Given the description of an element on the screen output the (x, y) to click on. 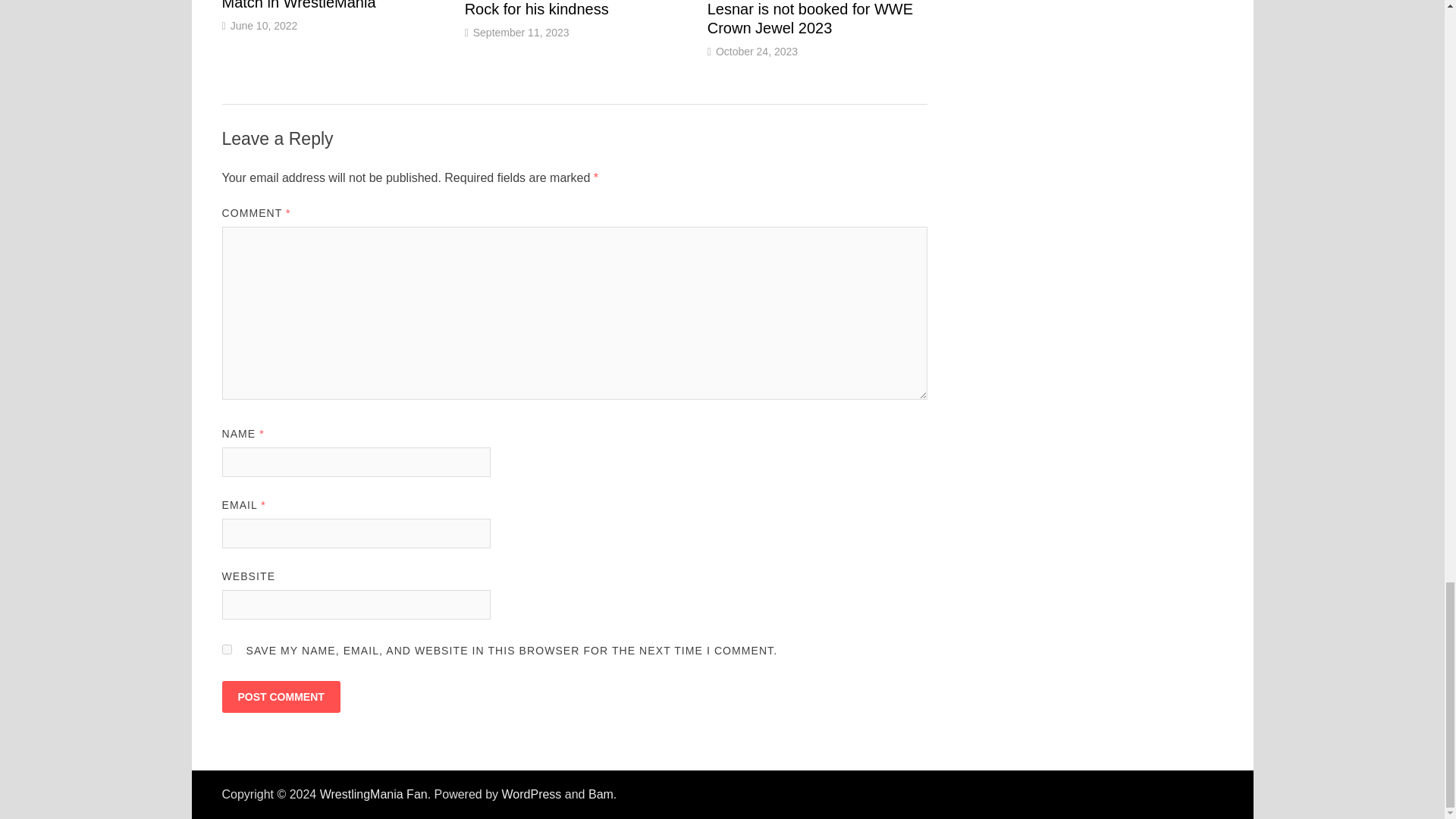
Post Comment (280, 696)
Sami Zayn talks about Knoxville Match in WrestleMania (328, 5)
WrestlingMania Fan (374, 793)
yes (226, 649)
